Given the description of an element on the screen output the (x, y) to click on. 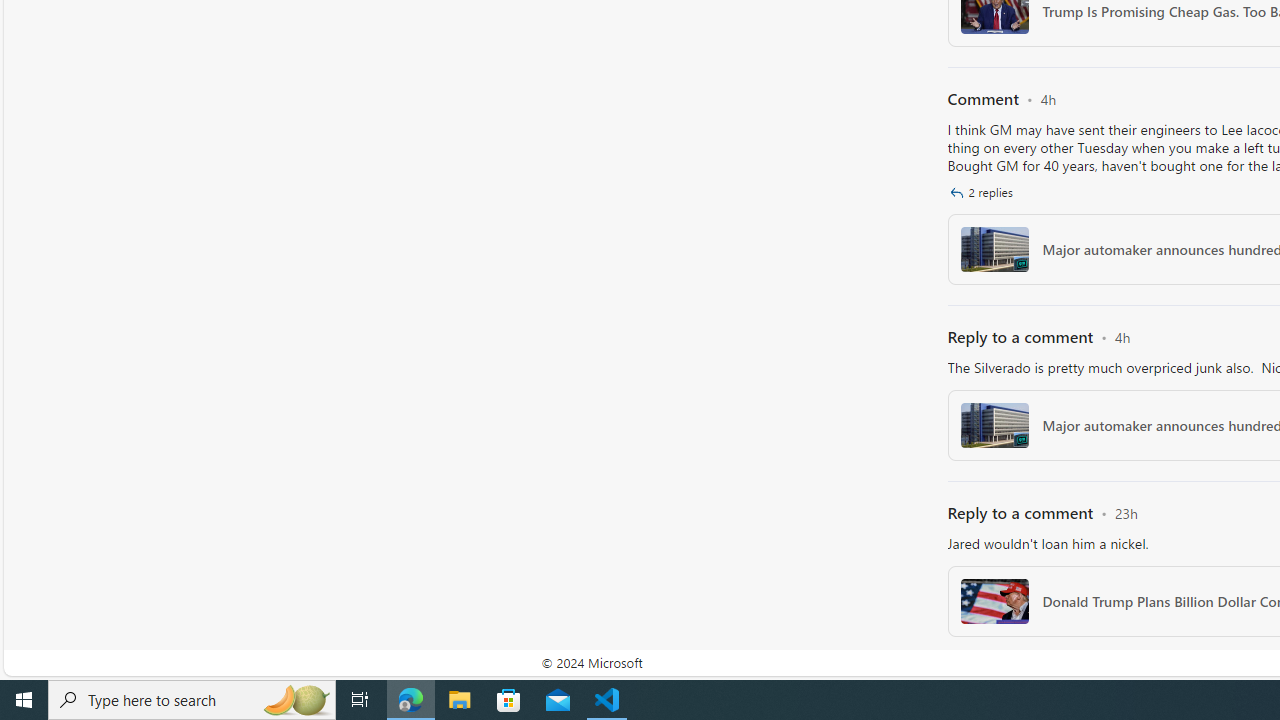
2 replies (983, 192)
Class: cwt-icon-vector (955, 192)
Content thumbnail (994, 601)
